Given the description of an element on the screen output the (x, y) to click on. 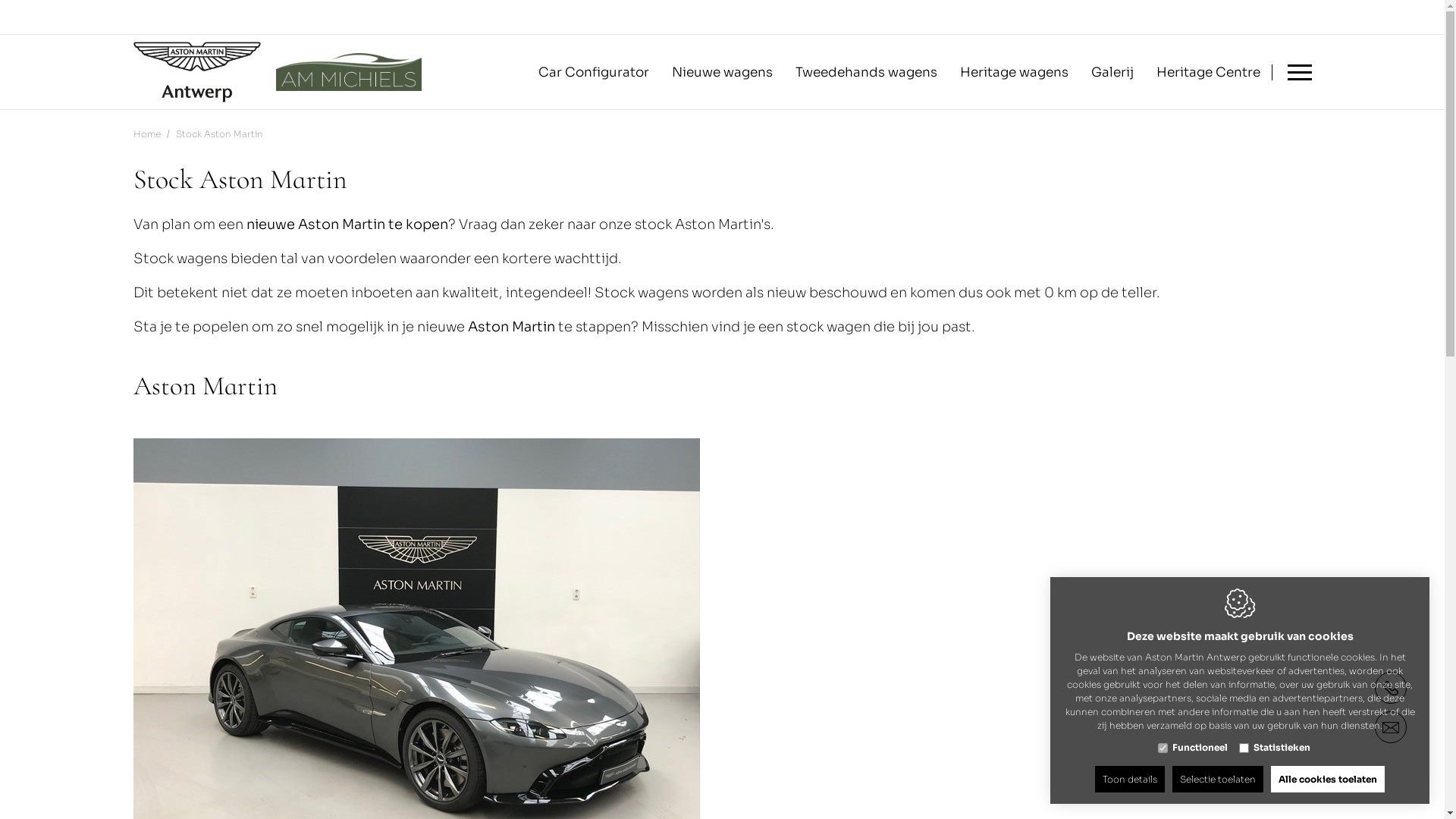
nieuwe Aston Martin Element type: text (314, 224)
Heritage wagens Element type: text (1014, 71)
Galerij Element type: text (1111, 71)
Home Element type: text (146, 133)
info@astonmartinmichiels.be Element type: text (1390, 727)
Selectie toelaten Element type: text (1217, 778)
Alle cookies toelaten Element type: text (1327, 778)
Car Configurator Element type: text (593, 71)
Nieuwe wagens Element type: text (721, 71)
Heritage Centre Element type: text (1207, 71)
+32 3 354 38 56 Element type: text (1390, 687)
Tweedehands wagens Element type: text (865, 71)
